Given the description of an element on the screen output the (x, y) to click on. 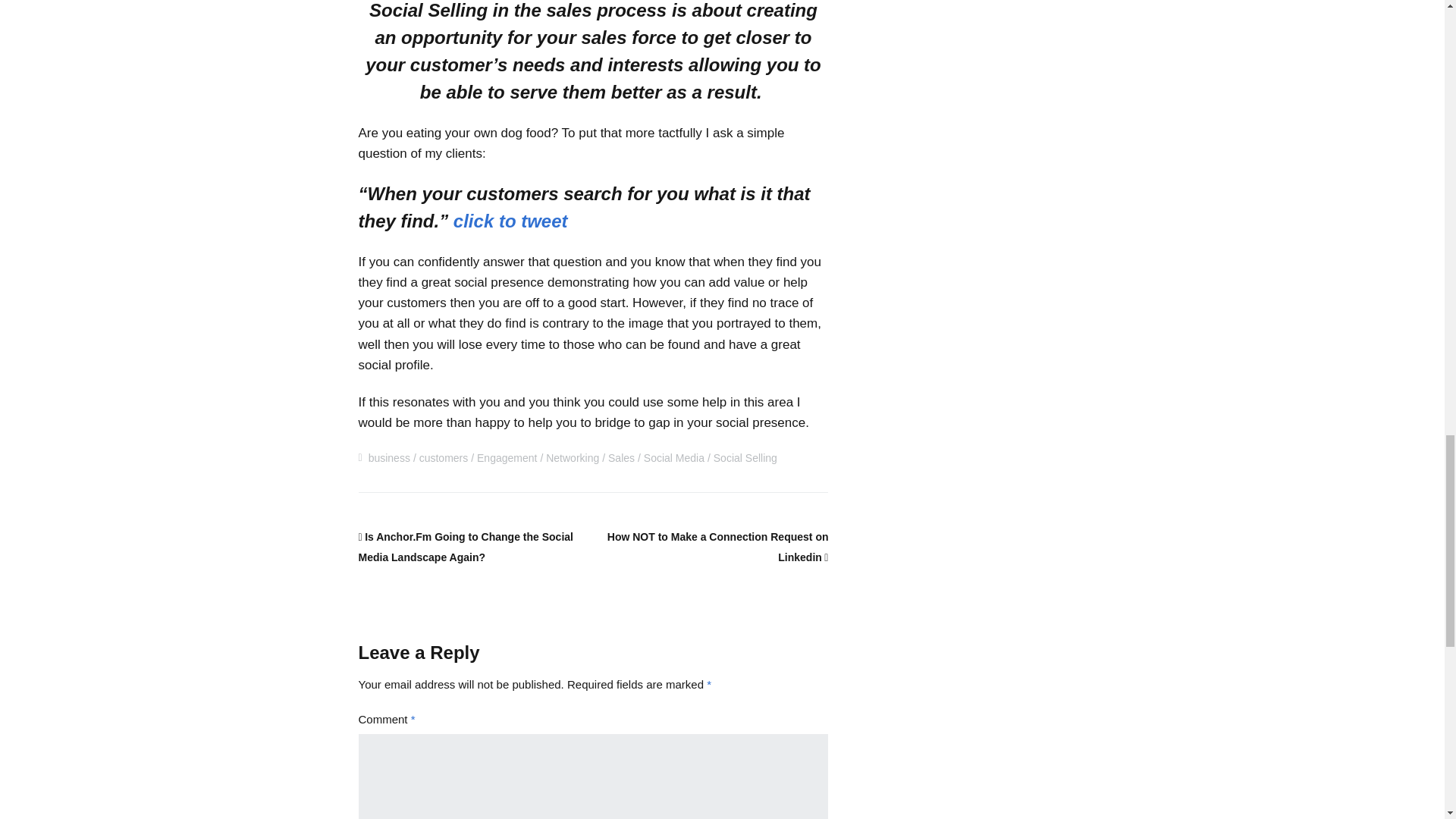
customers (443, 458)
Social Selling (745, 458)
Sales (621, 458)
How NOT to Make a Connection Request on Linkedin (717, 546)
Engagement (507, 458)
Social Media (673, 458)
business (389, 458)
Networking (572, 458)
click to tweet (509, 220)
